Given the description of an element on the screen output the (x, y) to click on. 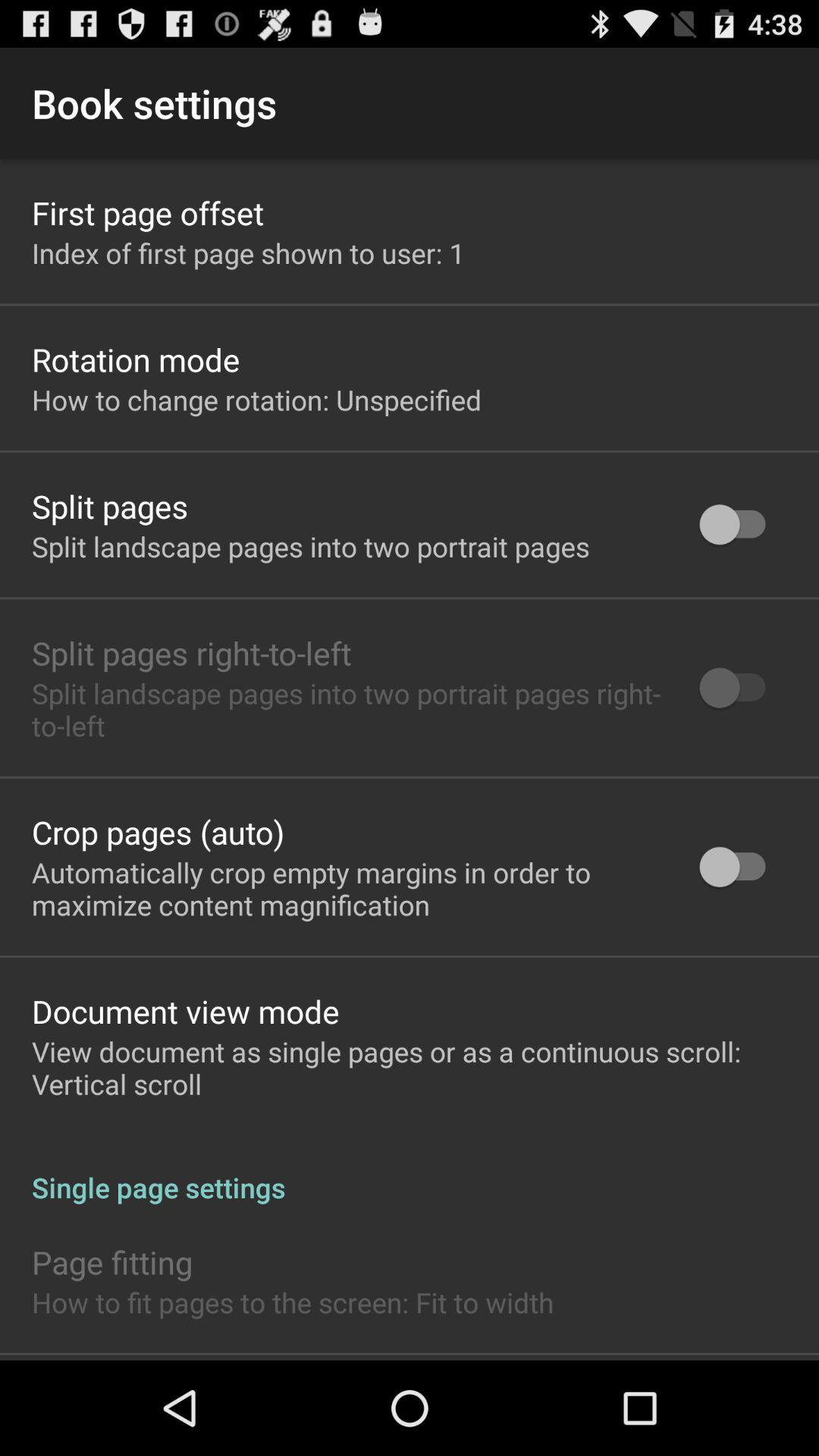
jump to the rotation mode icon (135, 359)
